Given the description of an element on the screen output the (x, y) to click on. 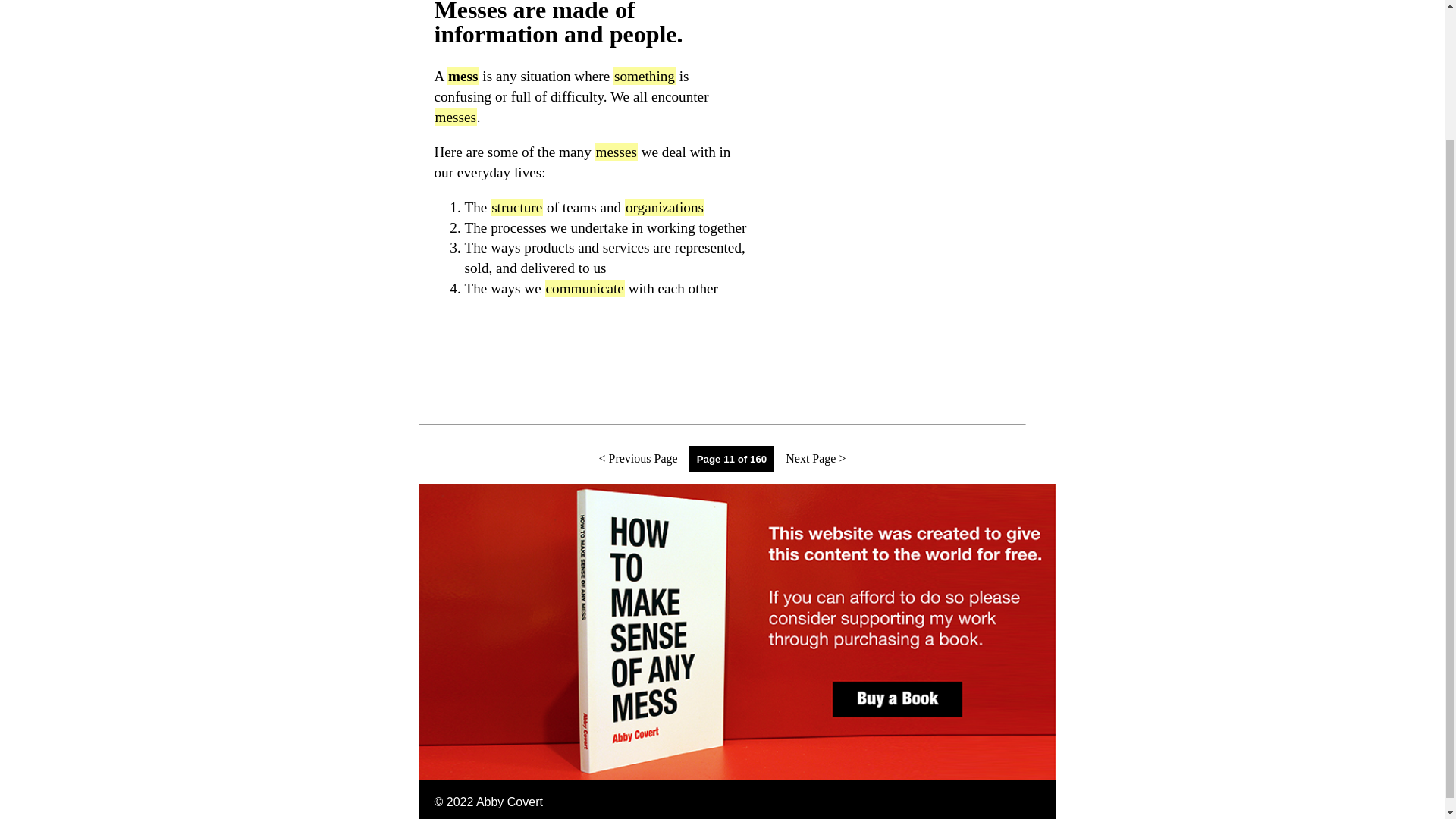
Abby Covert (509, 801)
messes (616, 151)
organizations (664, 207)
communicate (584, 288)
structure (516, 207)
mess (462, 76)
something (643, 76)
messes (454, 117)
Page 11 of 160 (732, 459)
